Given the description of an element on the screen output the (x, y) to click on. 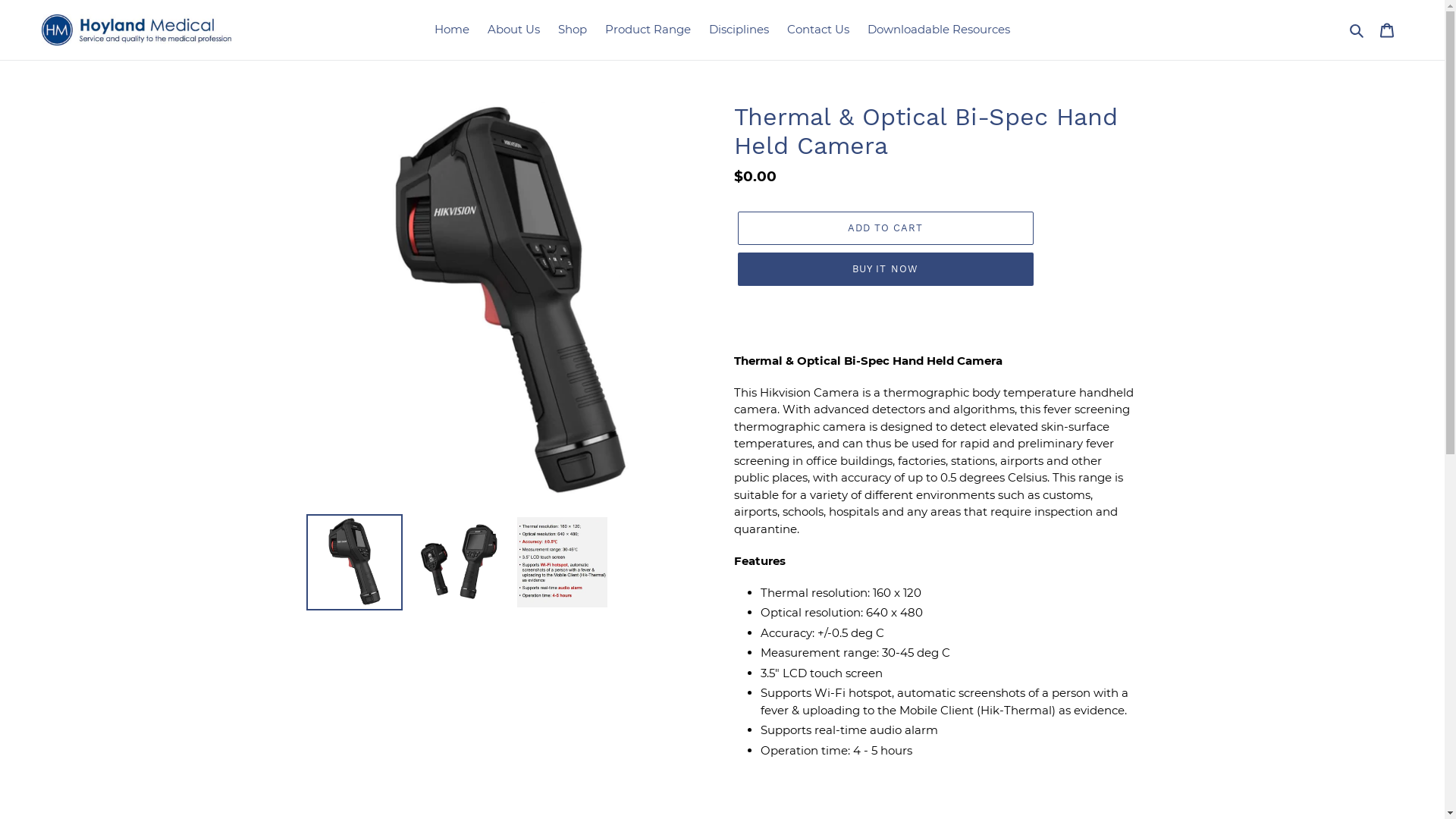
Contact Us Element type: text (817, 29)
Disciplines Element type: text (738, 29)
Product Range Element type: text (647, 29)
About Us Element type: text (513, 29)
Search Element type: text (1357, 29)
ADD TO CART Element type: text (884, 227)
BUY IT NOW Element type: text (884, 268)
Cart Element type: text (1386, 29)
Downloadable Resources Element type: text (938, 29)
Shop Element type: text (572, 29)
Home Element type: text (451, 29)
